Given the description of an element on the screen output the (x, y) to click on. 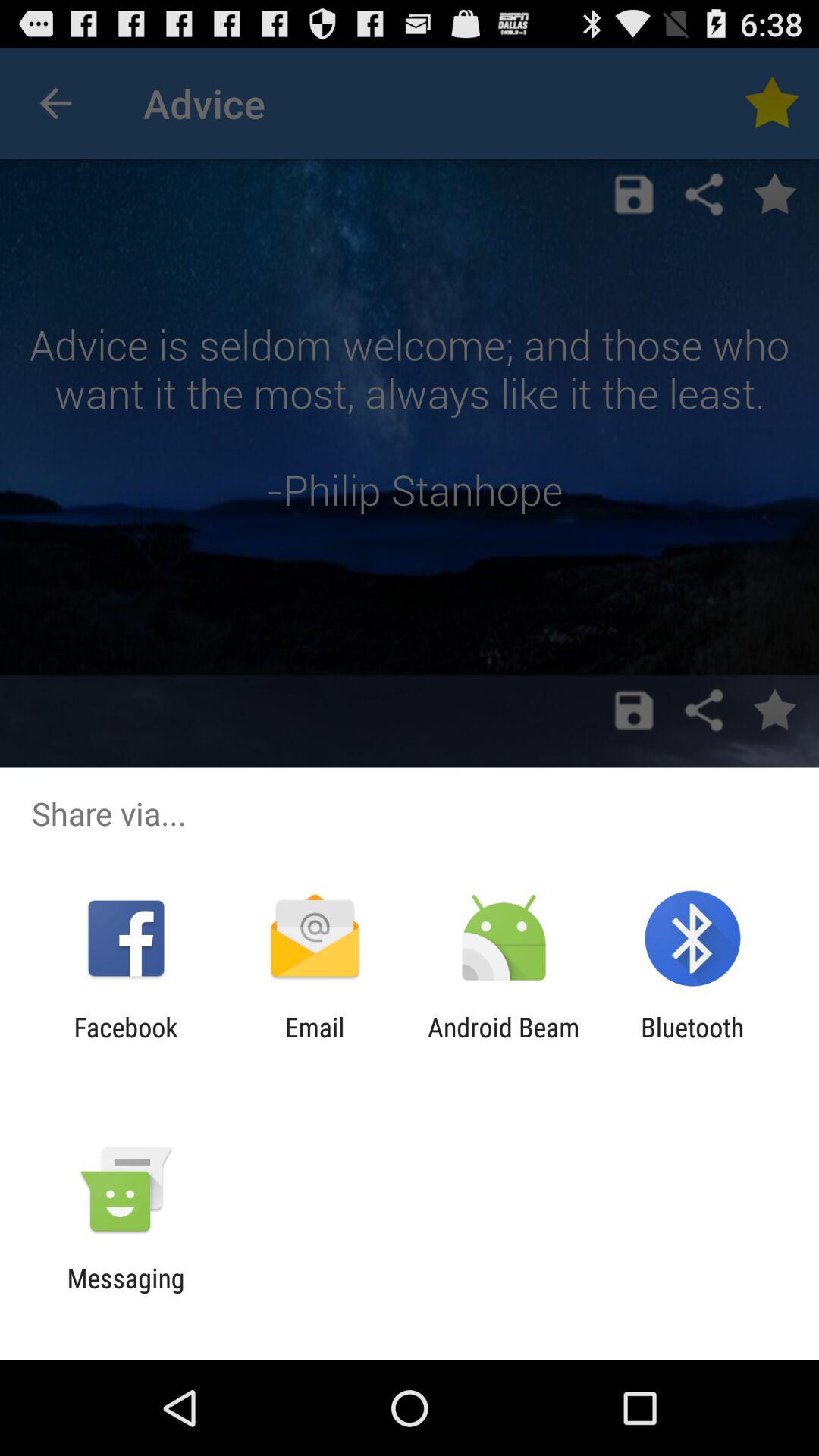
choose messaging item (125, 1293)
